Given the description of an element on the screen output the (x, y) to click on. 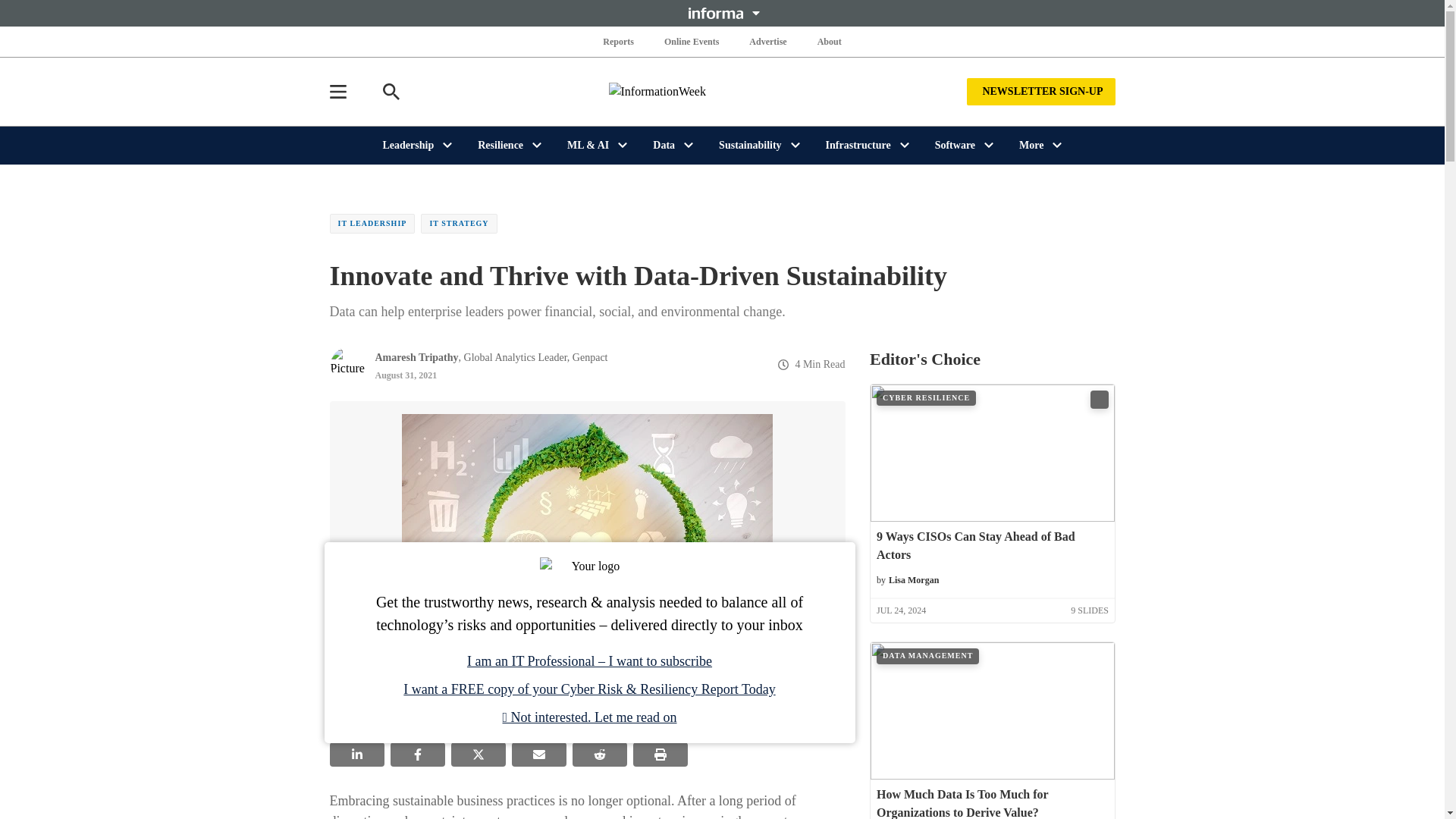
Advertise (767, 41)
About (828, 41)
NEWSLETTER SIGN-UP (1040, 90)
Reports (618, 41)
Online Events (691, 41)
InformationWeek (721, 91)
